Given the description of an element on the screen output the (x, y) to click on. 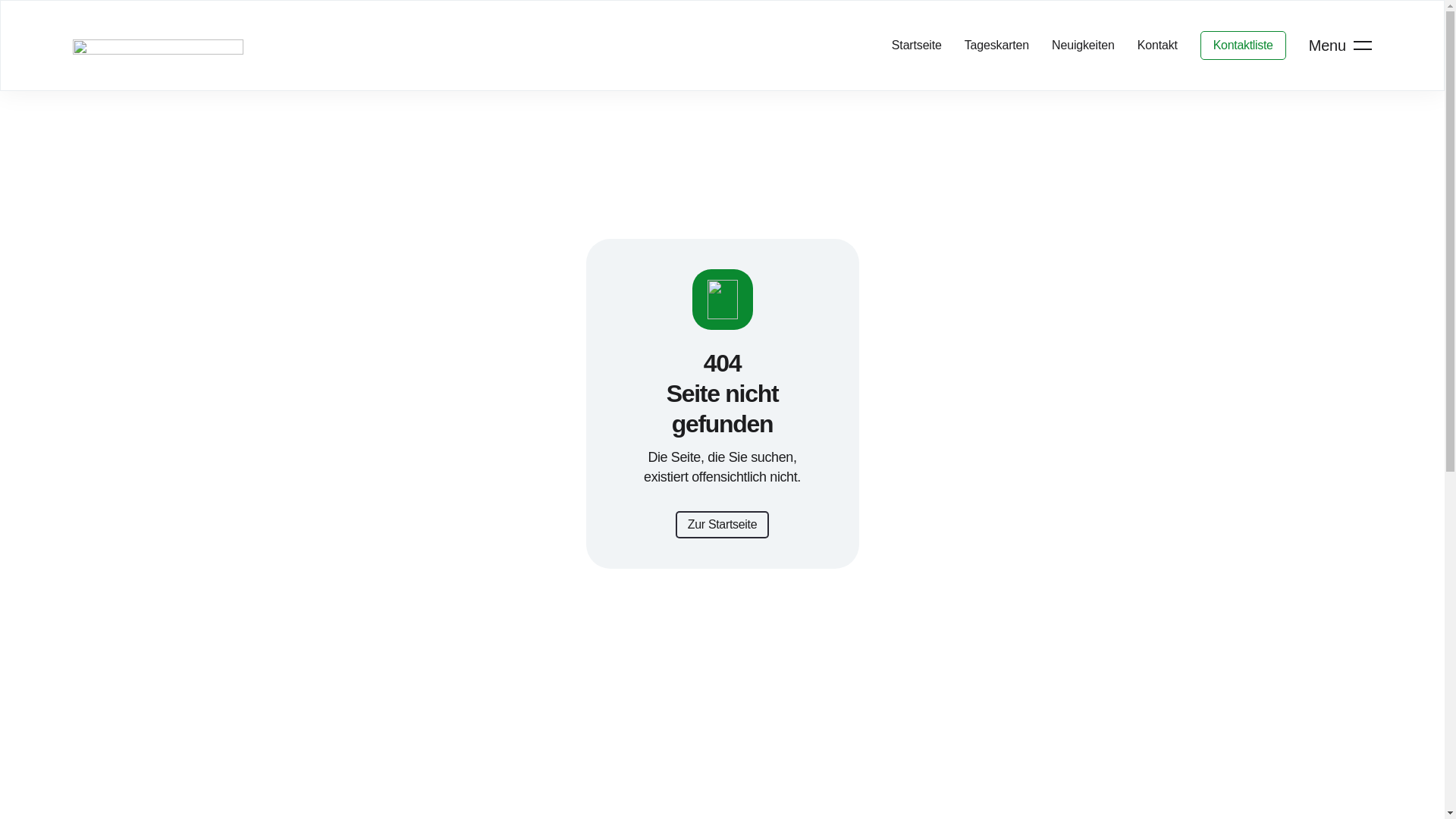
Tageskarten Element type: text (996, 45)
Startseite Element type: text (916, 45)
Kontaktliste Element type: text (1243, 45)
Zur Startseite Element type: text (722, 524)
Menu Element type: text (1328, 45)
Kontakt Element type: text (1157, 45)
Neuigkeiten Element type: text (1082, 45)
